Given the description of an element on the screen output the (x, y) to click on. 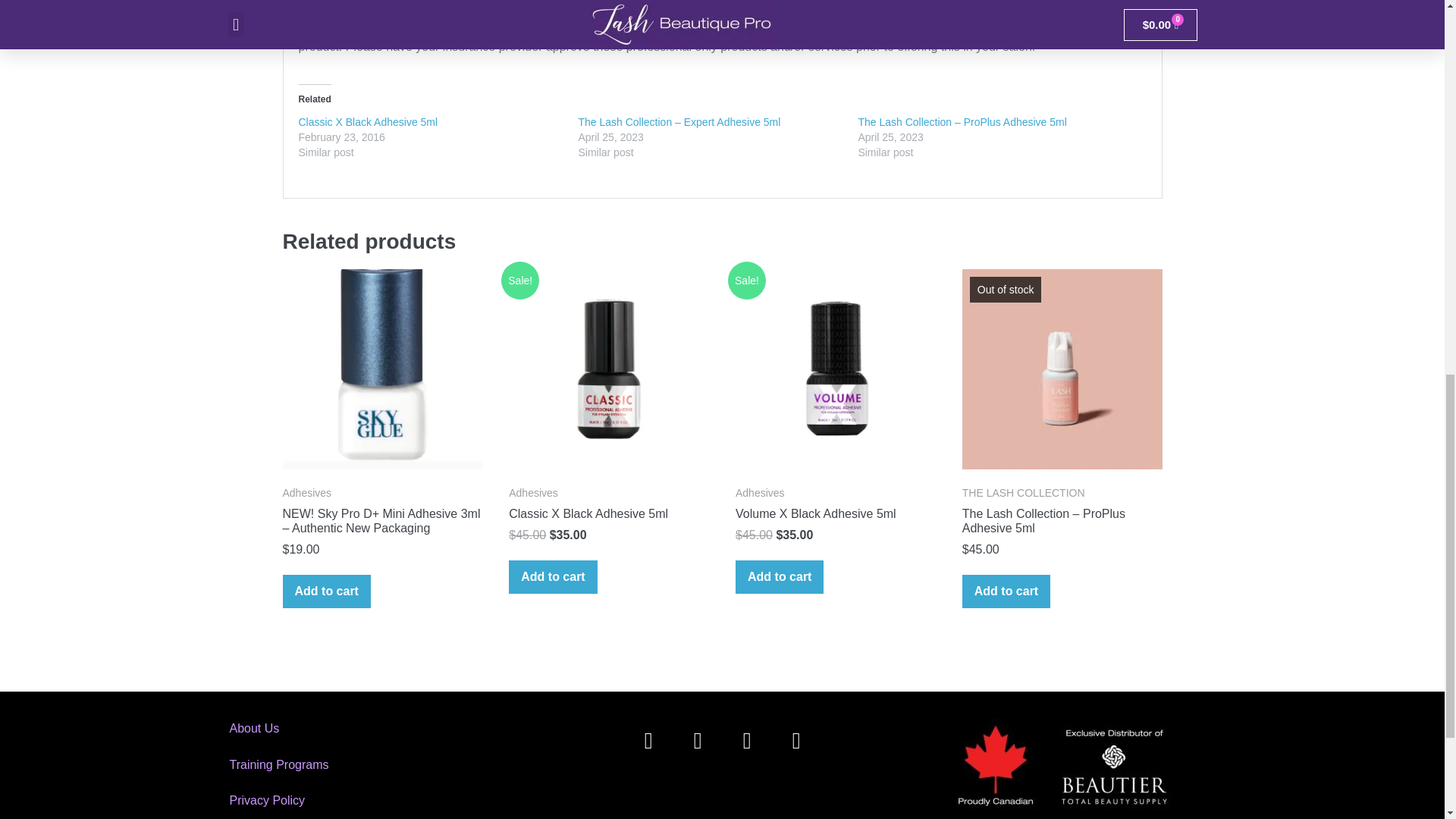
proudly-canadian-black-b (1065, 766)
Classic X Black Adhesive 5ml (368, 121)
Classic X Black Adhesive 5ml (368, 121)
